Given the description of an element on the screen output the (x, y) to click on. 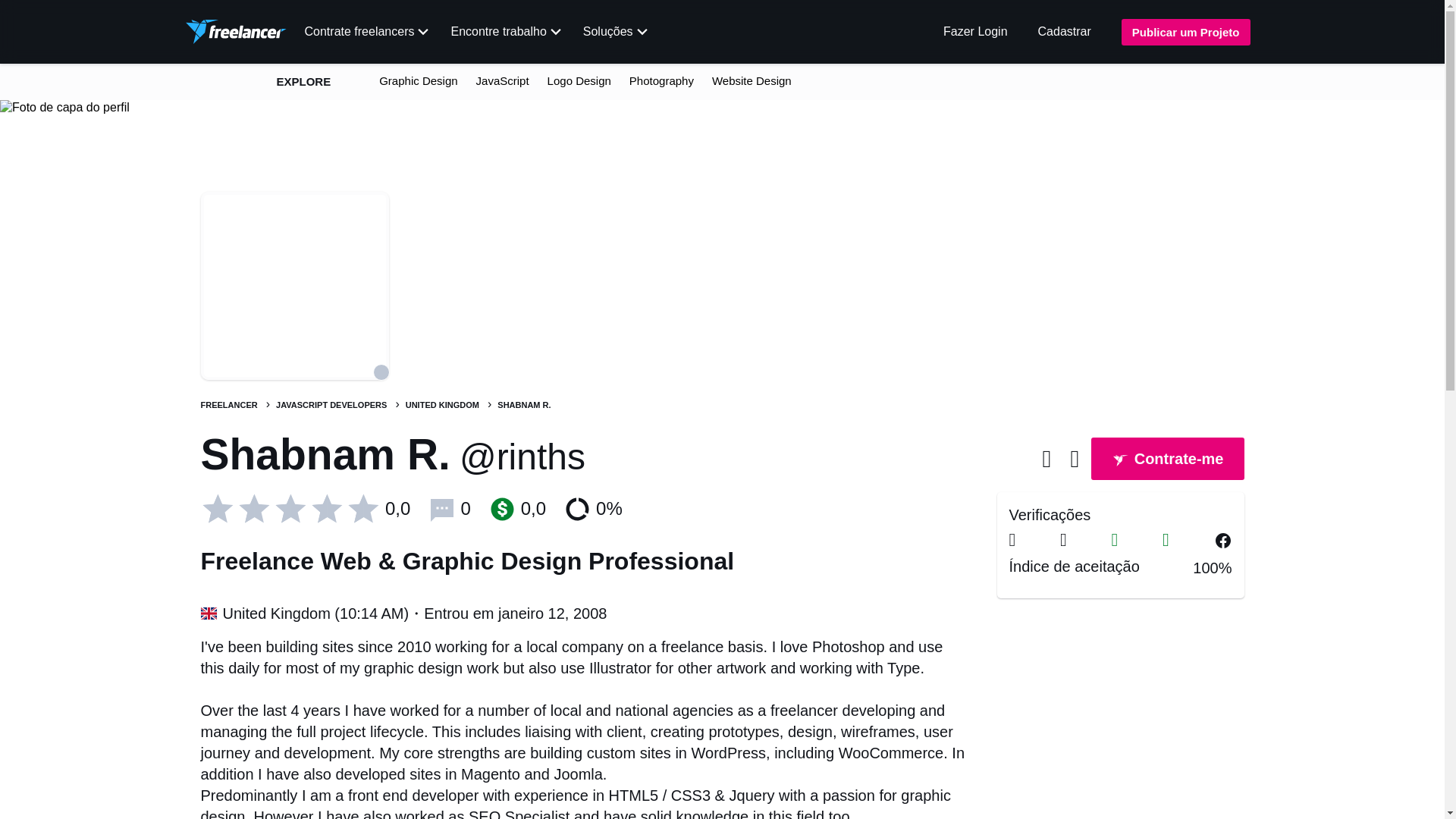
JavaScript (502, 80)
JAVASCRIPT DEVELOPERS (332, 404)
Encontre trabalho (504, 31)
Contrate-me (1167, 459)
Cadastrar (1064, 31)
Logo Design (579, 80)
Photography (661, 80)
Contrate freelancers (366, 31)
Graphic Design (417, 80)
Website Design (751, 80)
